Given the description of an element on the screen output the (x, y) to click on. 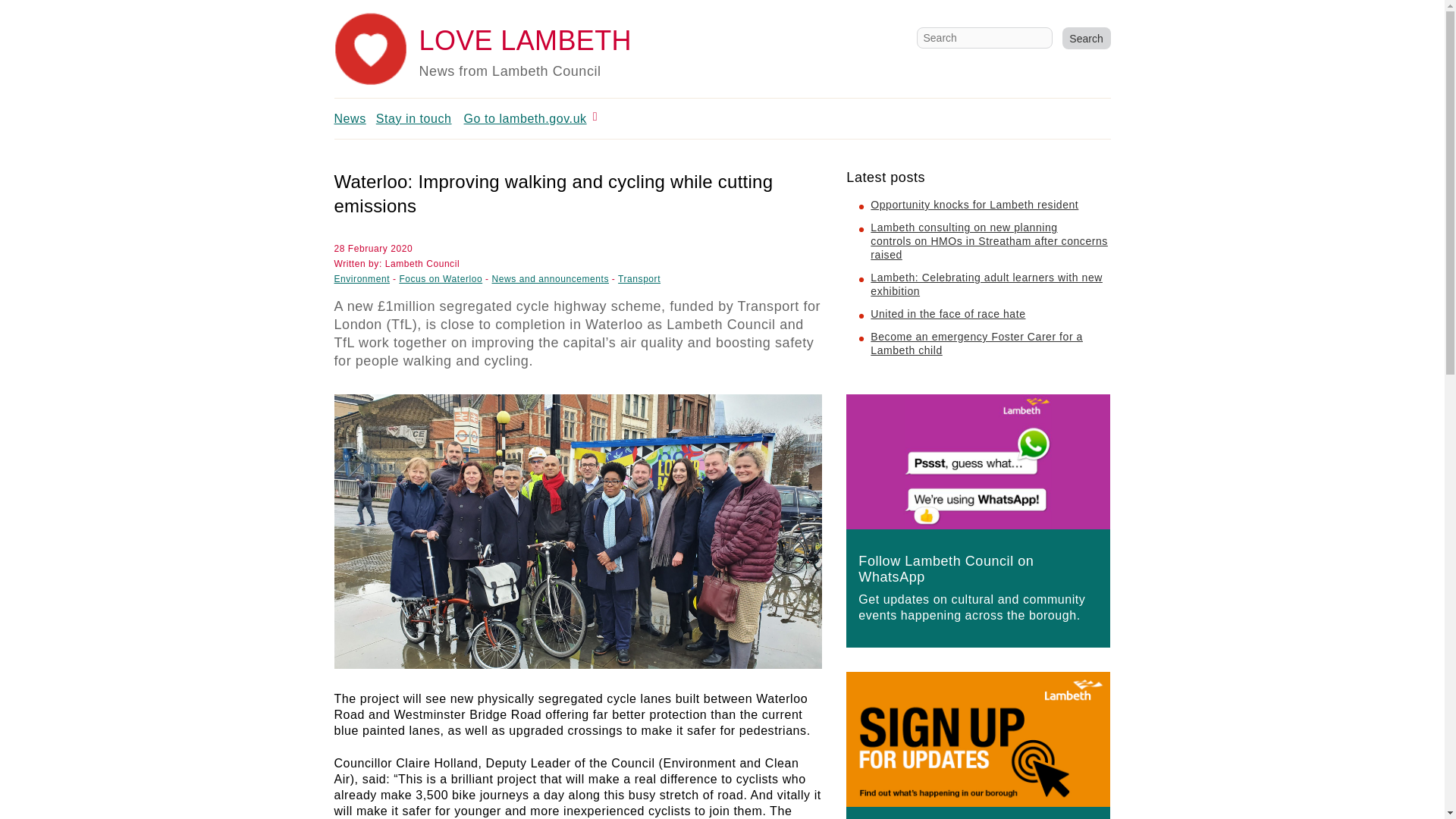
Become an emergency Foster Carer for a Lambeth child (976, 343)
Search (1085, 38)
Opportunity knocks for Lambeth resident (974, 204)
Go to lambeth.gov.uk (525, 118)
Search (1085, 38)
Opportunity knocks for Lambeth resident (974, 204)
Environment (361, 278)
News (349, 118)
